Given the description of an element on the screen output the (x, y) to click on. 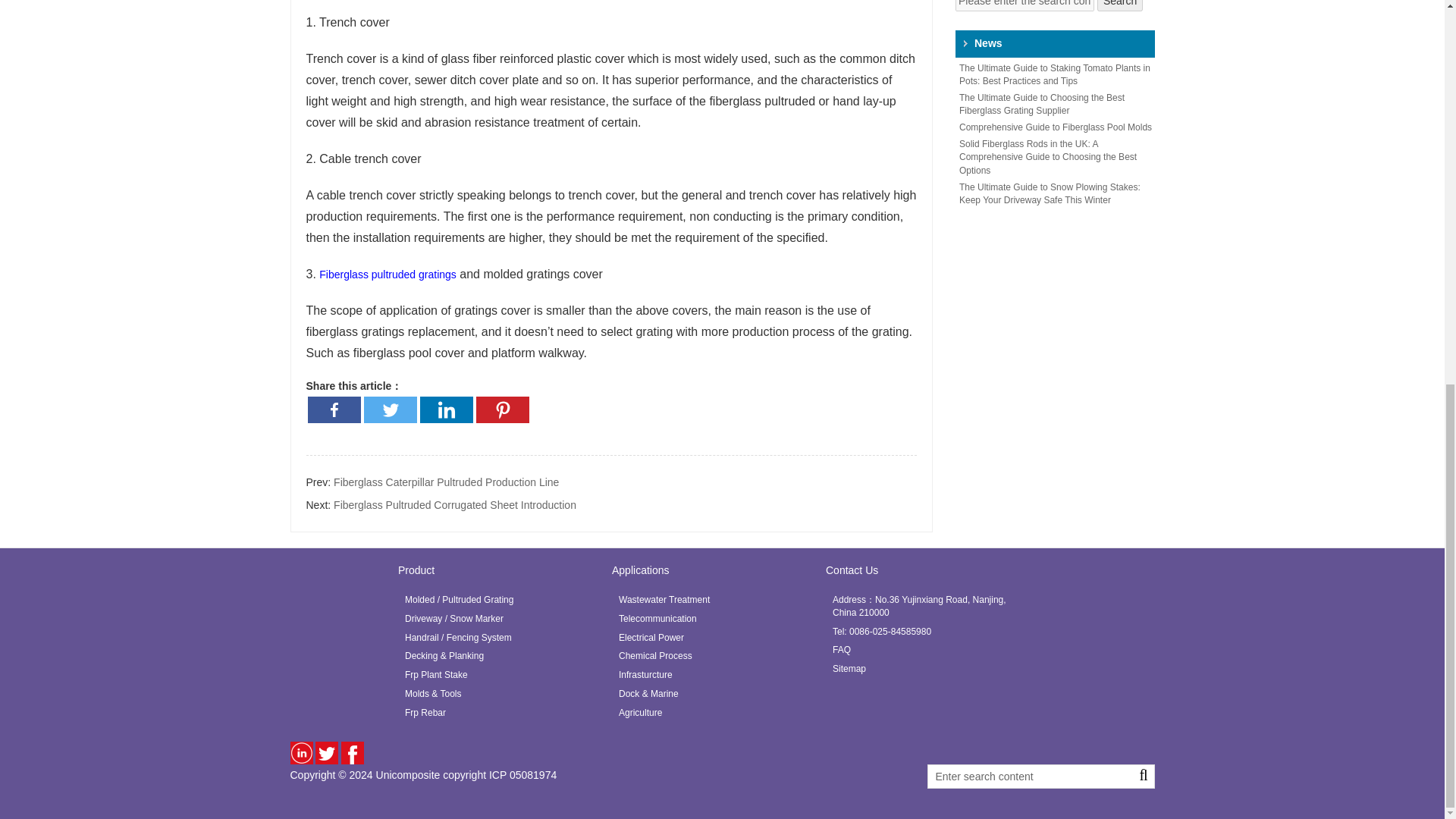
Facebook (334, 409)
twitter (326, 748)
Linkedin (446, 409)
Twitter (390, 409)
linkedin (301, 748)
Pinterest (502, 409)
facebook (352, 748)
Search (1119, 5)
